Given the description of an element on the screen output the (x, y) to click on. 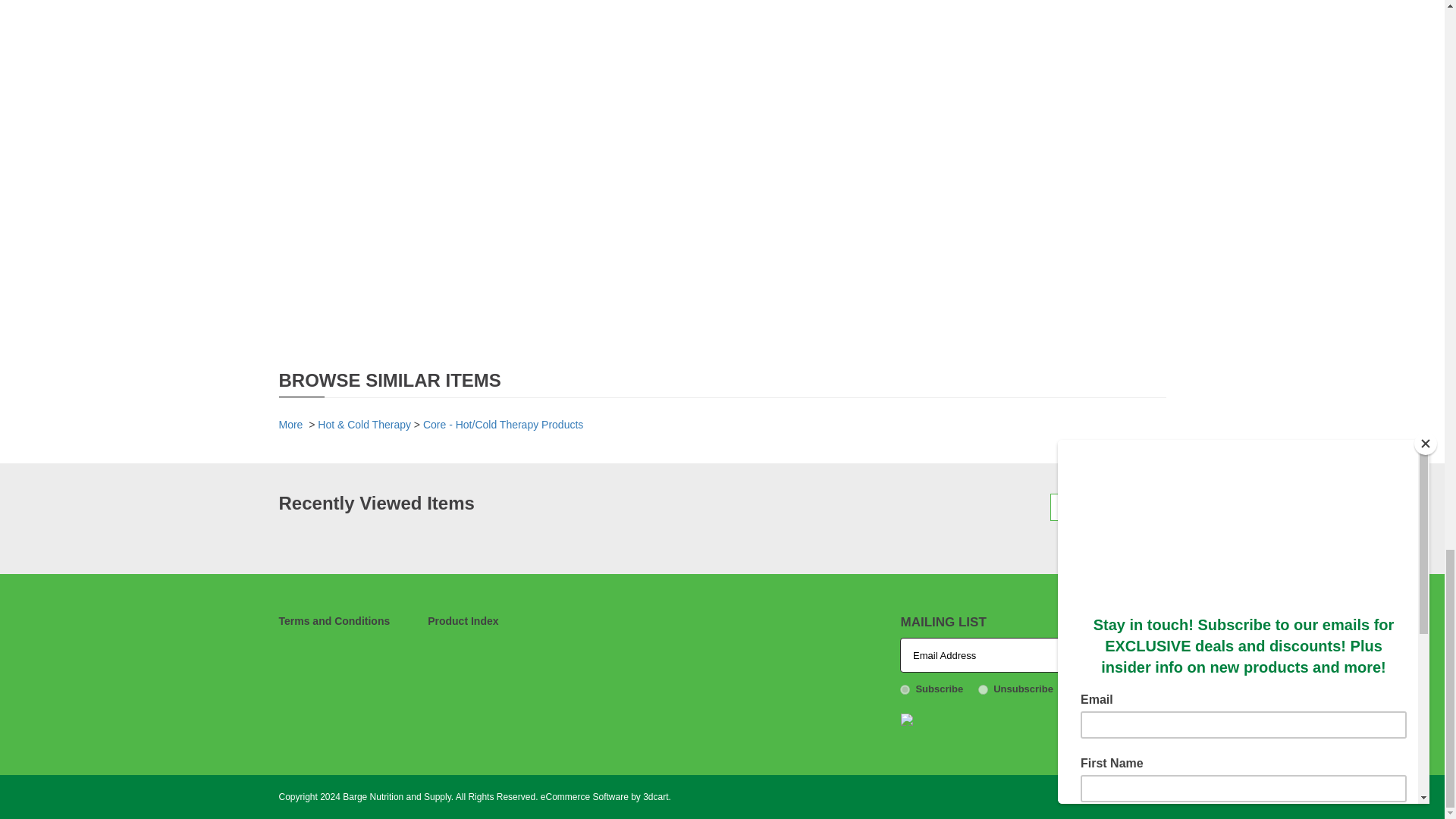
0 (983, 689)
1 (904, 689)
